Given the description of an element on the screen output the (x, y) to click on. 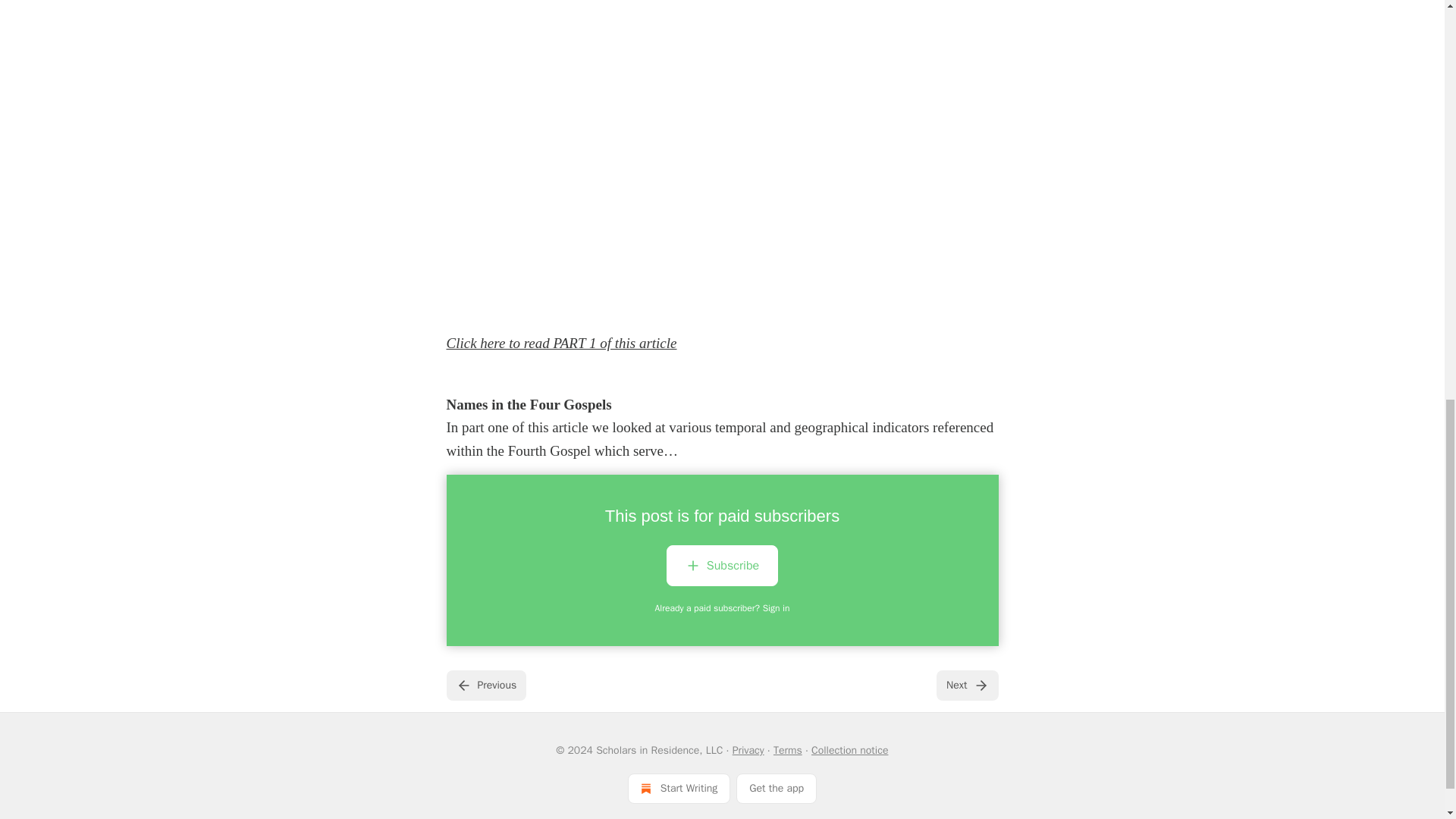
Start Writing (678, 788)
Already a paid subscriber? Sign in (722, 607)
Collection notice (849, 749)
Get the app (776, 788)
Terms (787, 749)
Next (966, 685)
Previous (485, 685)
Click here to read PART 1 of this article (561, 342)
Subscribe (721, 565)
Subscribe (721, 568)
Privacy (748, 749)
